Given the description of an element on the screen output the (x, y) to click on. 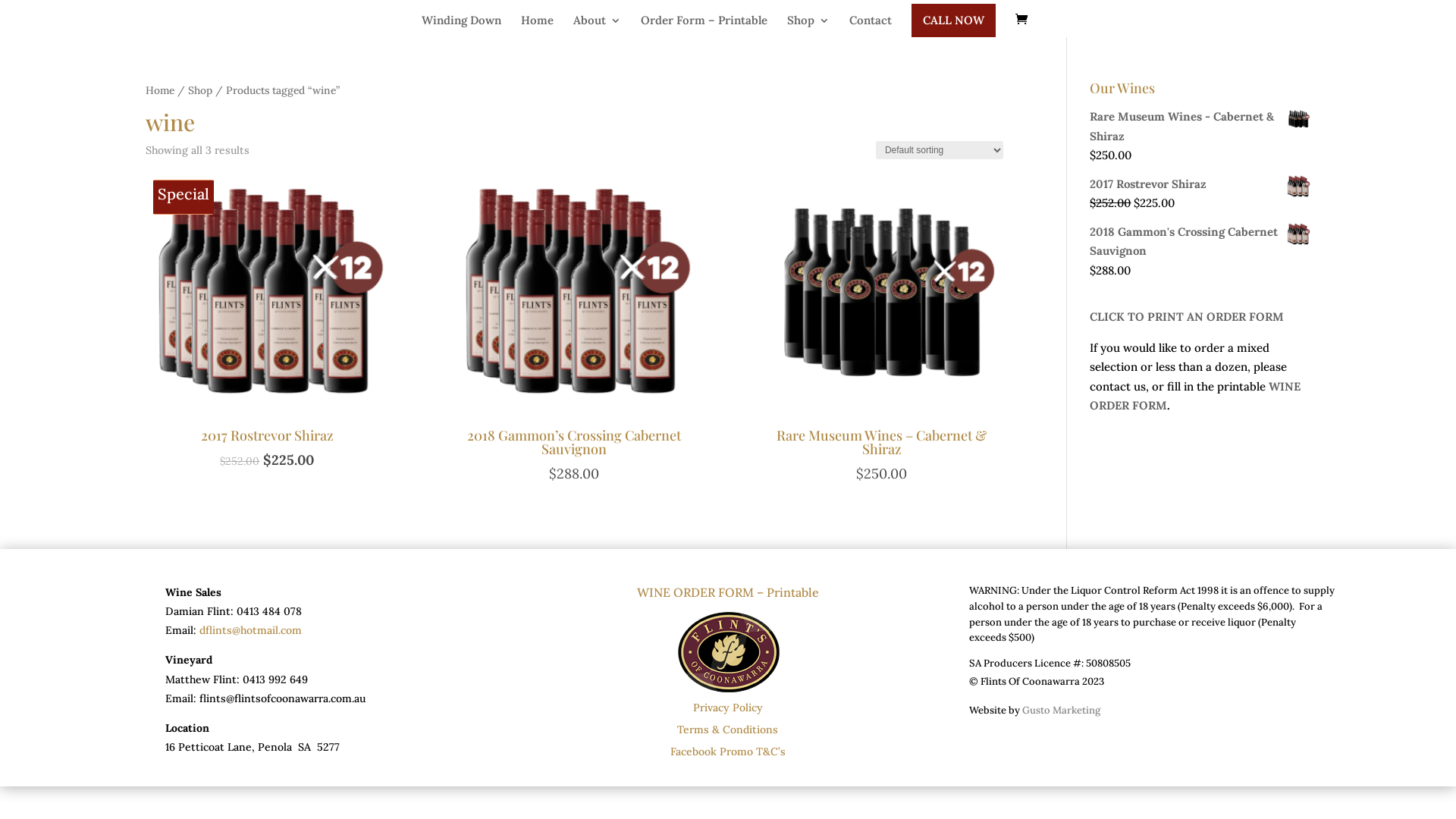
Home Element type: text (536, 22)
Logo-150-flints Element type: hover (727, 650)
CALL NOW Element type: text (953, 20)
CLICK TO PRINT AN ORDER FORM Element type: text (1186, 316)
Sale!
2017 Rostrevor Shiraz
$252.00 $225.00 Element type: text (267, 322)
2017 Rostrevor Shiraz Element type: text (1199, 184)
Contact Element type: text (870, 22)
About Element type: text (597, 22)
Shop Element type: text (808, 22)
dflints@hotmail.com Element type: text (250, 630)
Home Element type: text (159, 90)
Gusto Marketing Element type: text (1061, 709)
Terms & Conditions Element type: text (727, 729)
Shop Element type: text (200, 90)
2018 Gammon's Crossing Cabernet Sauvignon Element type: text (1199, 240)
Rare Museum Wines - Cabernet & Shiraz Element type: text (1199, 125)
Privacy Policy Element type: text (727, 707)
WINE ORDER FORM Element type: text (1194, 396)
Winding Down Element type: text (461, 22)
